Given the description of an element on the screen output the (x, y) to click on. 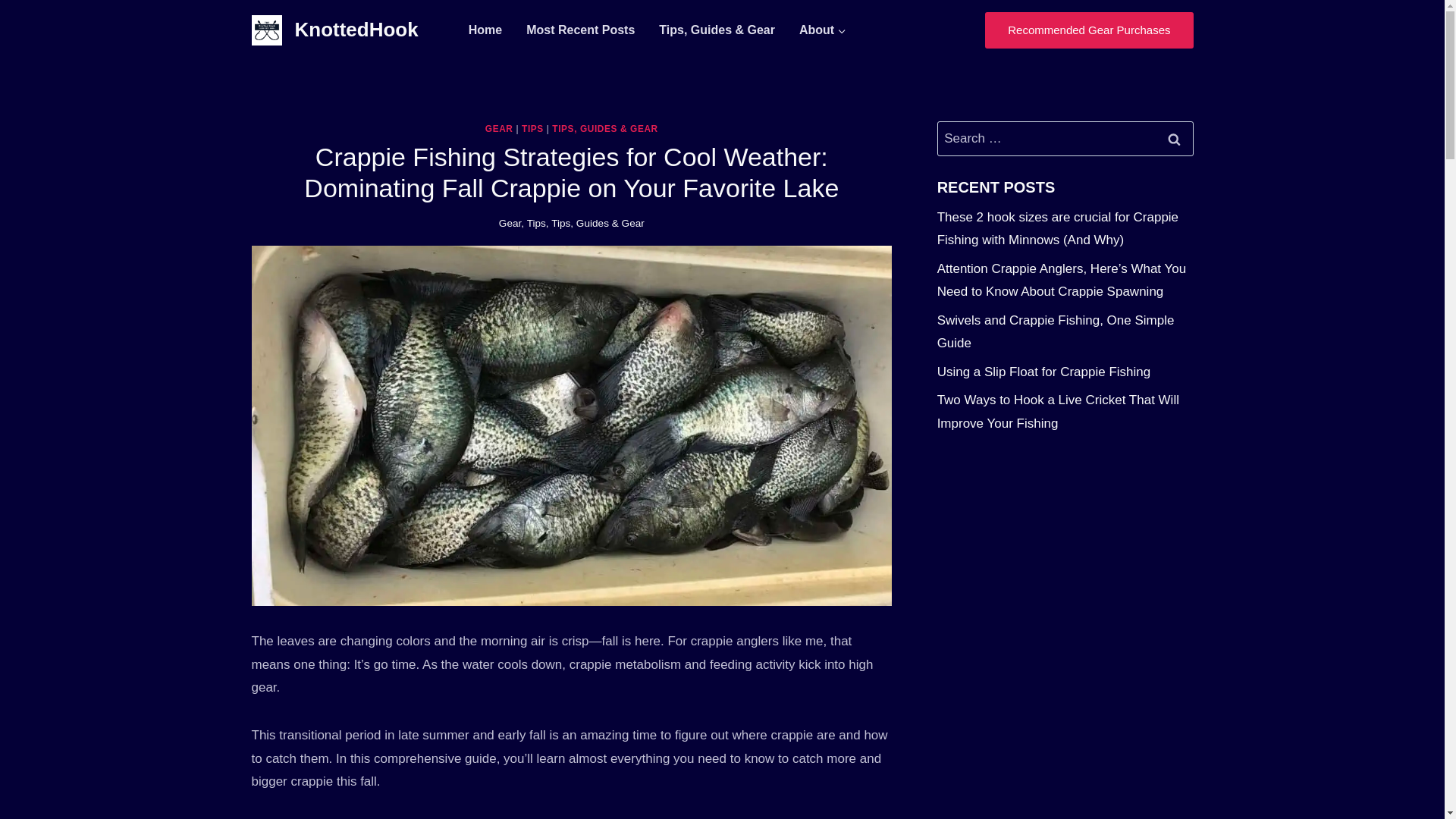
Gear (510, 223)
KnottedHook (335, 30)
Home (485, 29)
Recommended Gear Purchases (1088, 30)
About (823, 29)
TIPS (532, 128)
Search (1174, 138)
Search (1174, 138)
Most Recent Posts (579, 29)
GEAR (498, 128)
Tips (536, 223)
